Given the description of an element on the screen output the (x, y) to click on. 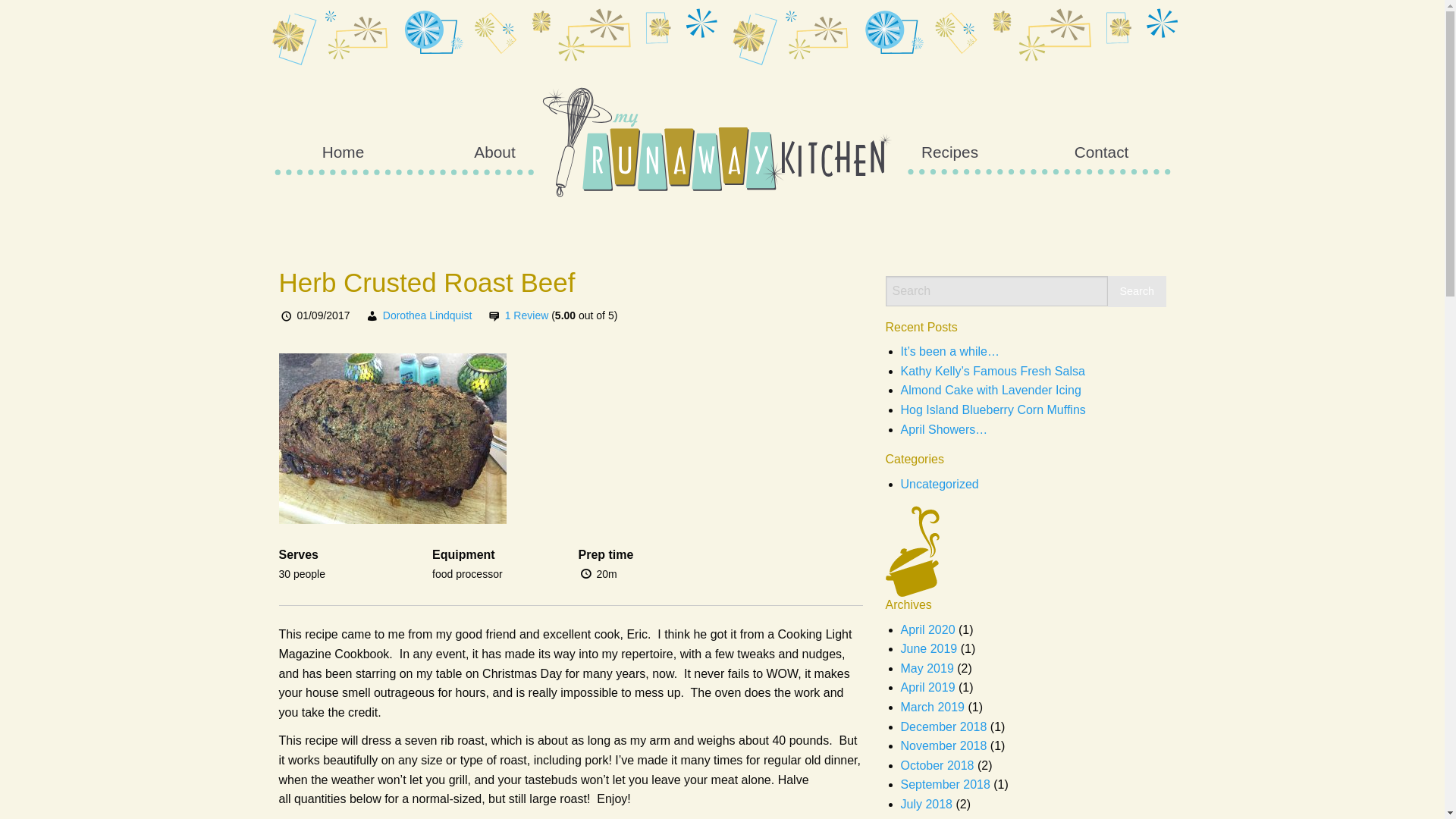
Almond Cake with Lavender Icing (991, 390)
March 2019 (933, 707)
Rated 5.00 out of 5 (584, 315)
Recipes (949, 151)
Contact (1101, 151)
May 2019 (927, 667)
April 2019 (928, 686)
April 2020 (928, 629)
Posts by Dorothea Lindquist (426, 315)
Search (1137, 291)
Search (1137, 291)
June 2019 (929, 648)
About (494, 151)
Uncategorized (939, 483)
Hog Island Blueberry Corn Muffins (993, 409)
